Given the description of an element on the screen output the (x, y) to click on. 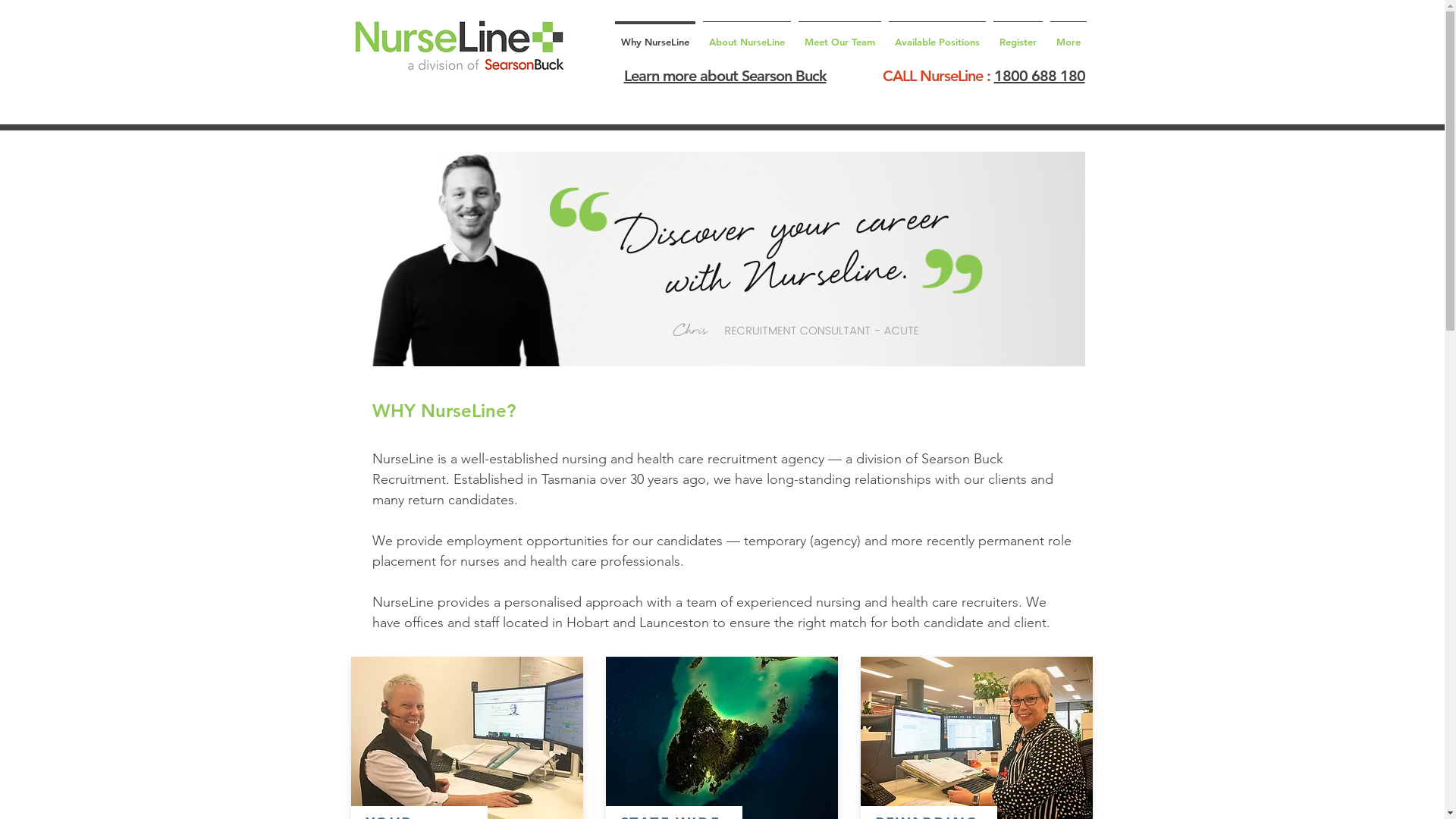
About NurseLine Element type: text (746, 35)
1800 688 180 Element type: text (1038, 75)
Meet Our Team Element type: text (839, 35)
Learn more about Searson Buck Element type: text (724, 75)
Register Element type: text (1016, 35)
Available Positions Element type: text (936, 35)
Why NurseLine Element type: text (655, 35)
